Given the description of an element on the screen output the (x, y) to click on. 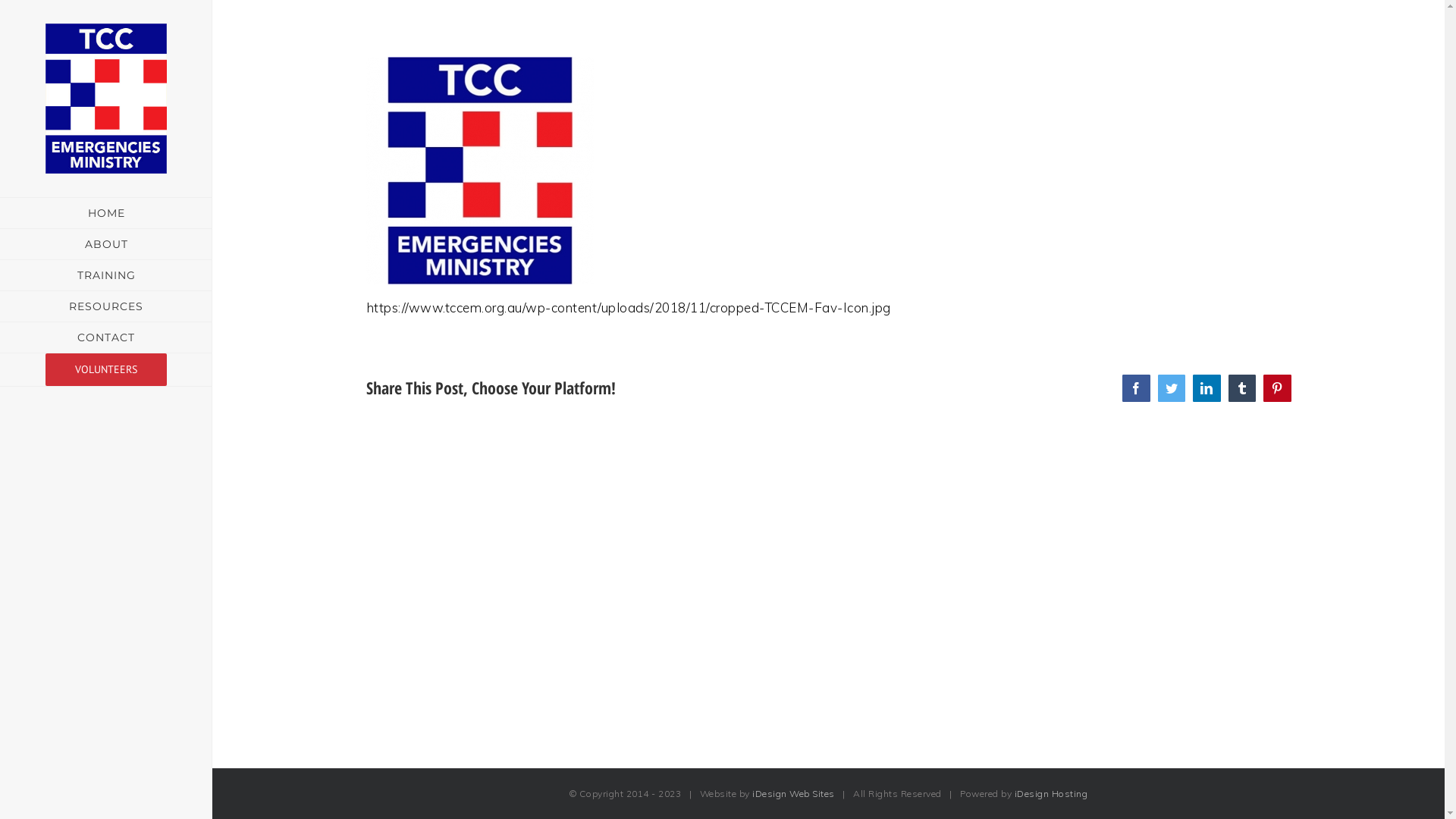
Facebook Element type: text (1136, 387)
LinkedIn Element type: text (1206, 387)
iDesign Hosting Element type: text (1051, 793)
VOLUNTEERS Element type: text (106, 369)
Pinterest Element type: text (1277, 387)
Twitter Element type: text (1171, 387)
iDesign Web Sites Element type: text (793, 793)
TRAINING Element type: text (106, 275)
RESOURCES Element type: text (106, 306)
CONTACT Element type: text (106, 337)
Tumblr Element type: text (1242, 387)
HOME Element type: text (106, 213)
ABOUT Element type: text (106, 244)
